Given the description of an element on the screen output the (x, y) to click on. 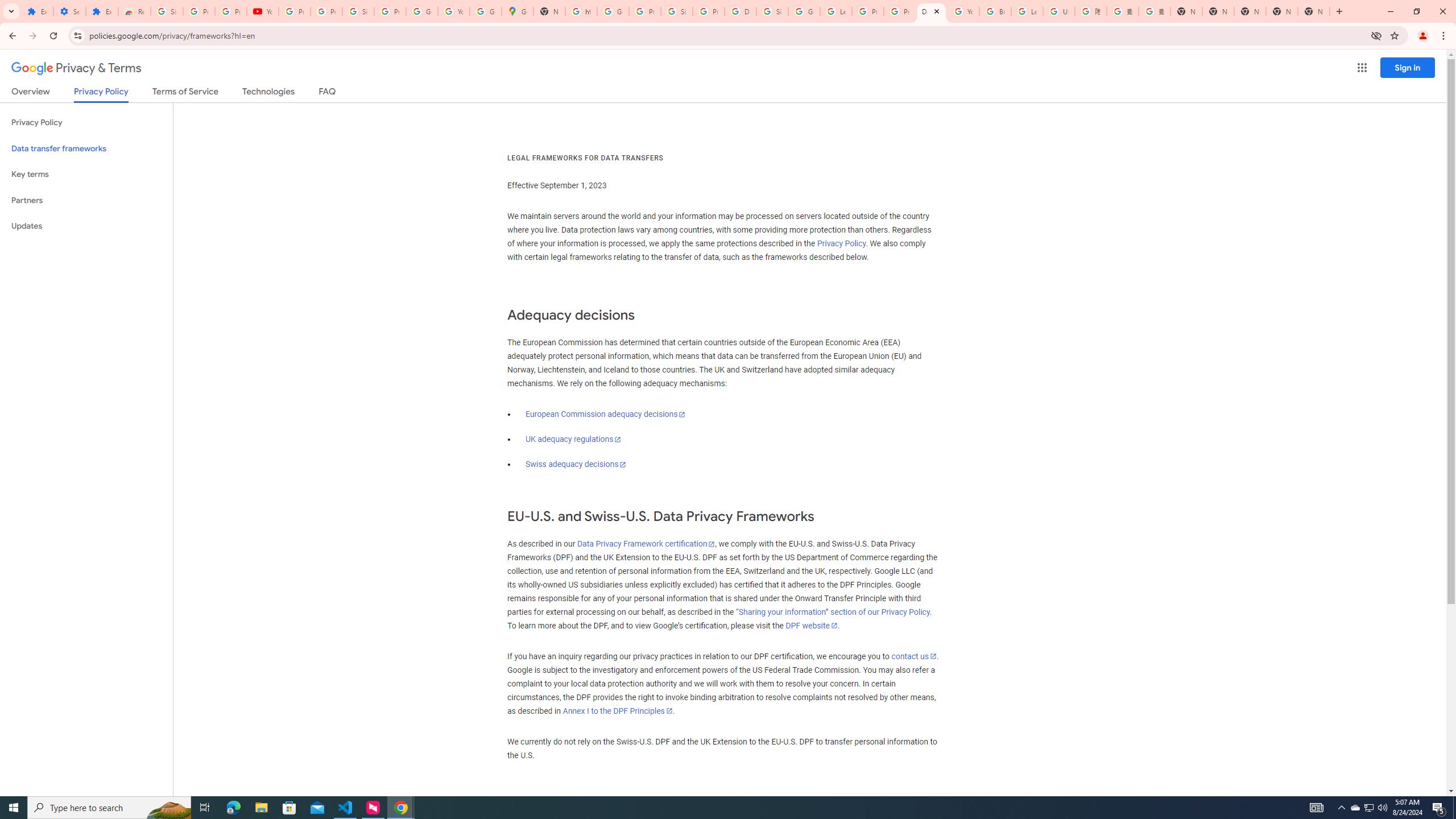
New Tab (1313, 11)
YouTube (262, 11)
Privacy Help Center - Policies Help (899, 11)
